Given the description of an element on the screen output the (x, y) to click on. 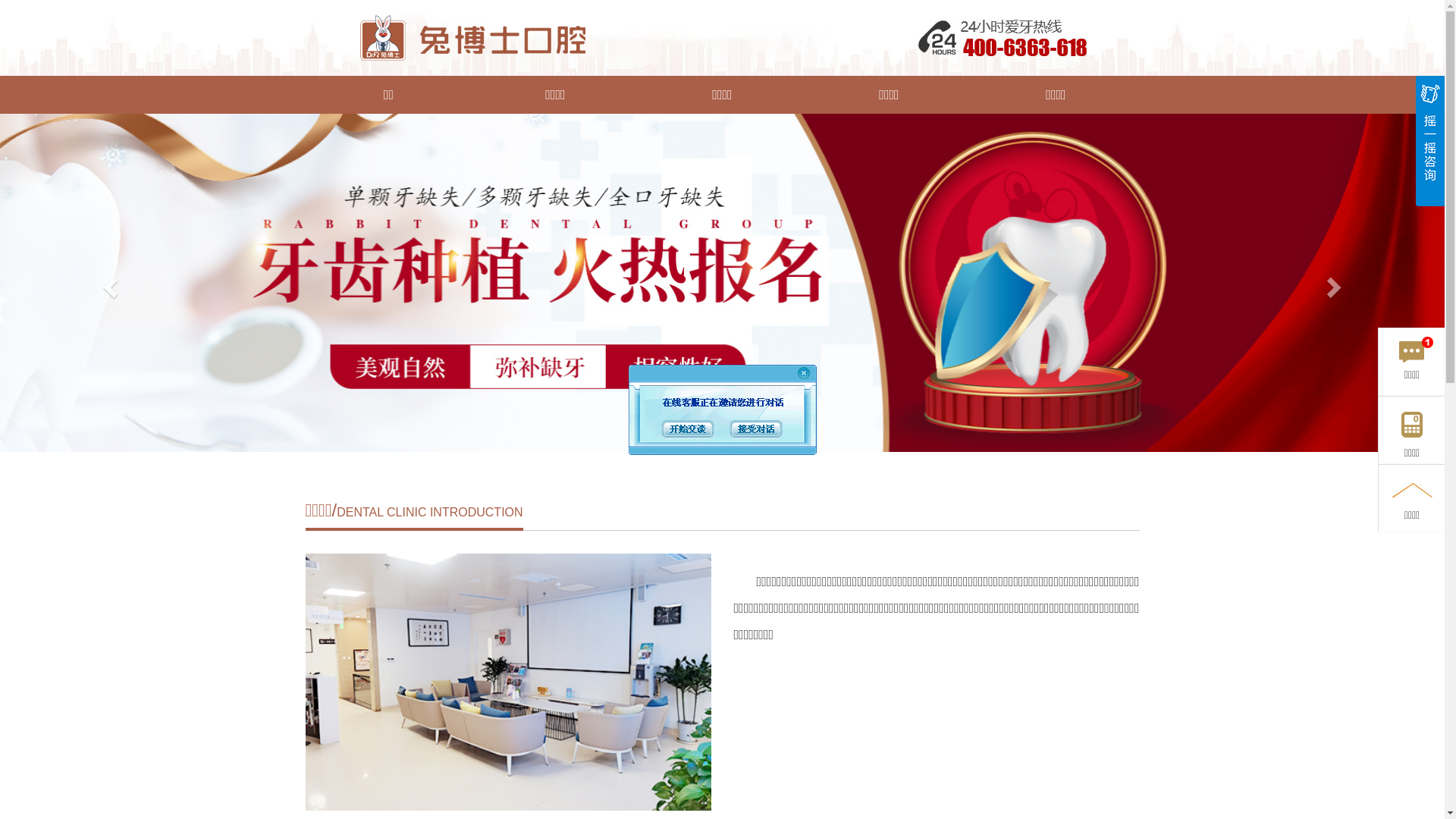
Previous Element type: text (108, 282)
Next Element type: text (1335, 282)
